Given the description of an element on the screen output the (x, y) to click on. 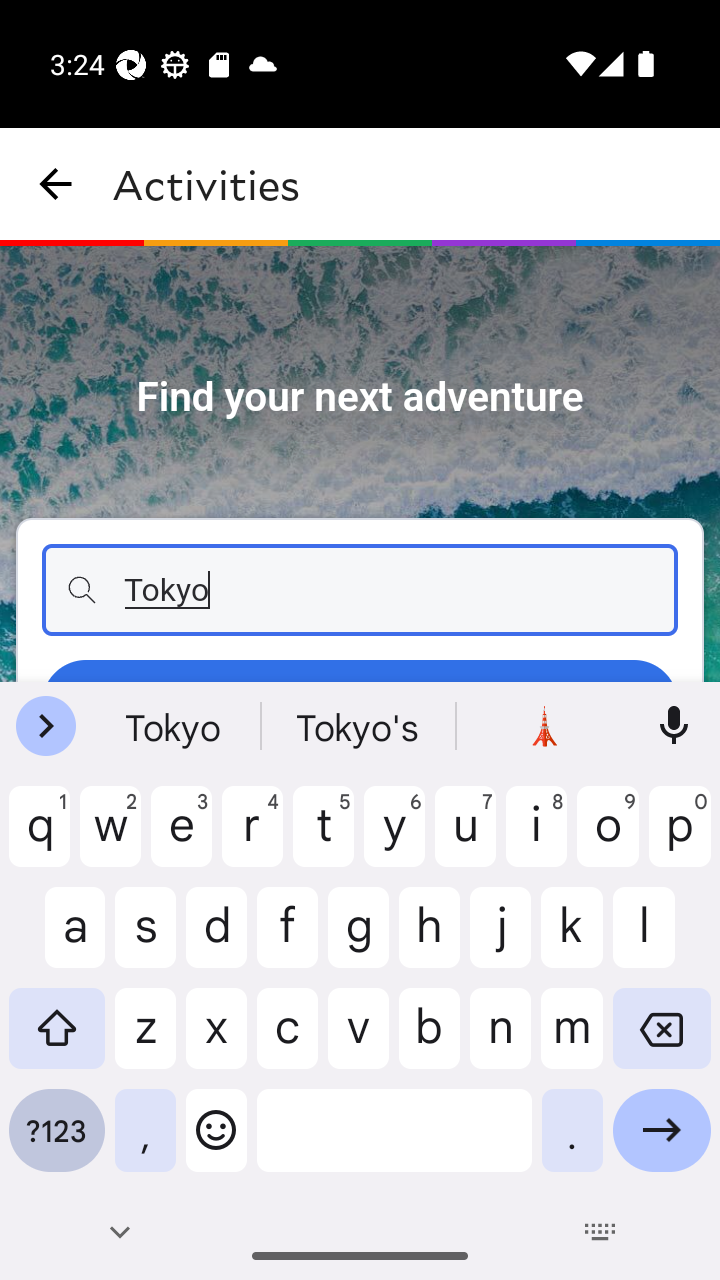
navigation_button (56, 184)
Find your next adventure   Tokyo Search (360, 463)
Tokyo (359, 590)
